Given the description of an element on the screen output the (x, y) to click on. 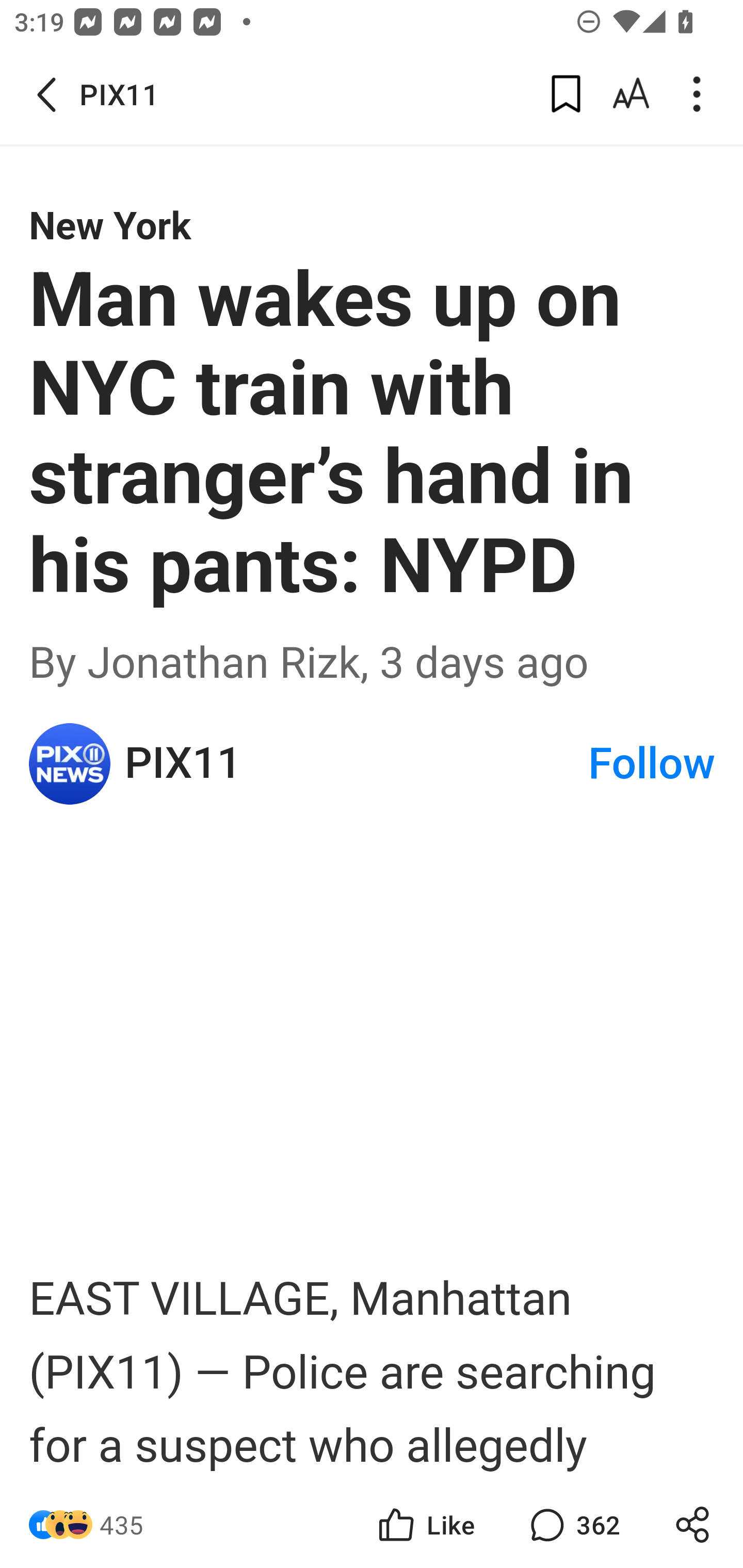
PIX11 (70, 763)
PIX11 (355, 763)
Follow (651, 763)
435 (121, 1524)
Like (425, 1524)
362 (572, 1524)
